Given the description of an element on the screen output the (x, y) to click on. 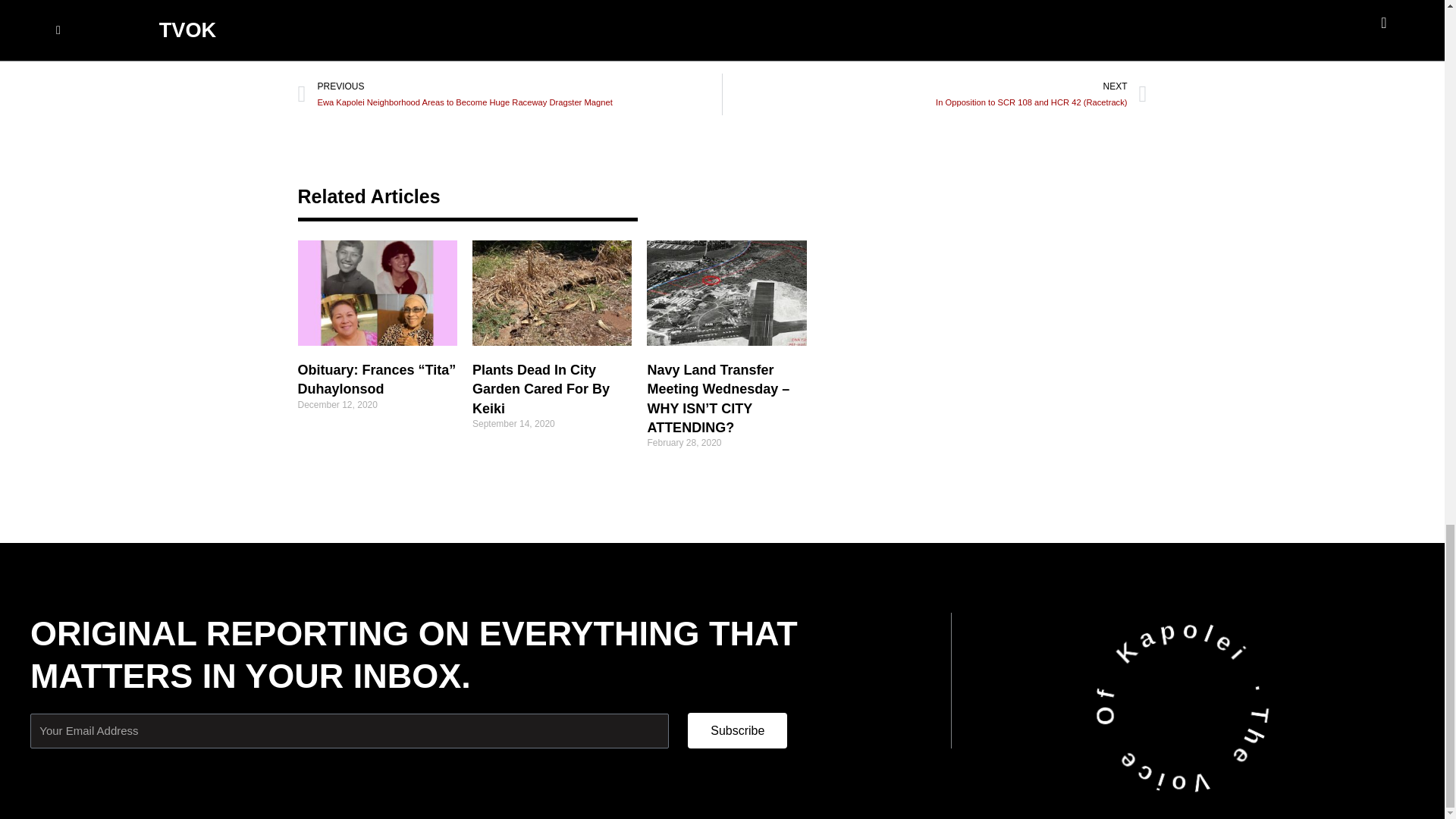
Subscribe (737, 730)
Plants Dead In City Garden Cared For By Keiki (540, 388)
